Given the description of an element on the screen output the (x, y) to click on. 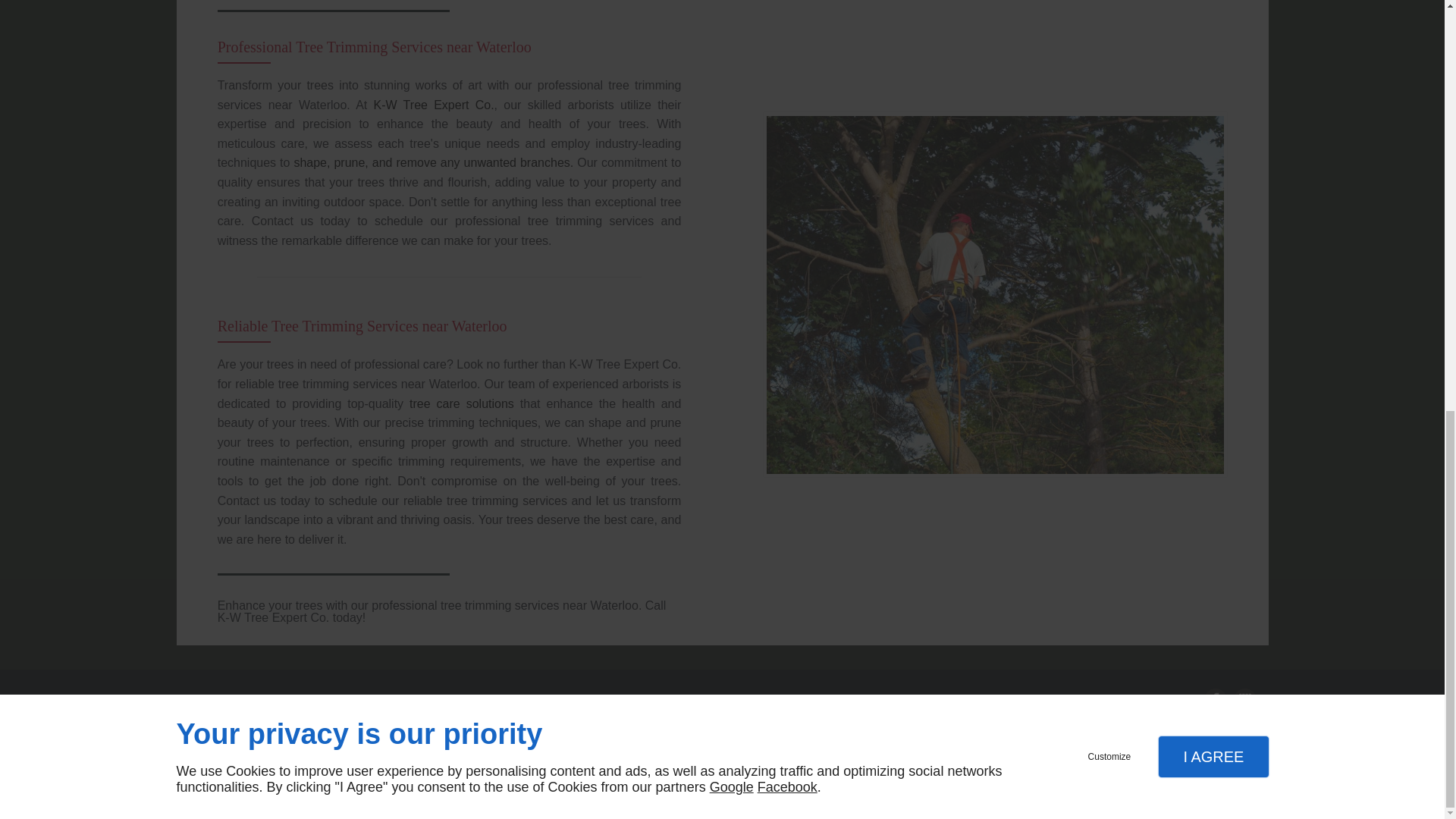
linkeo (208, 775)
Mybusiness (1244, 699)
Facebook (1215, 699)
